Given the description of an element on the screen output the (x, y) to click on. 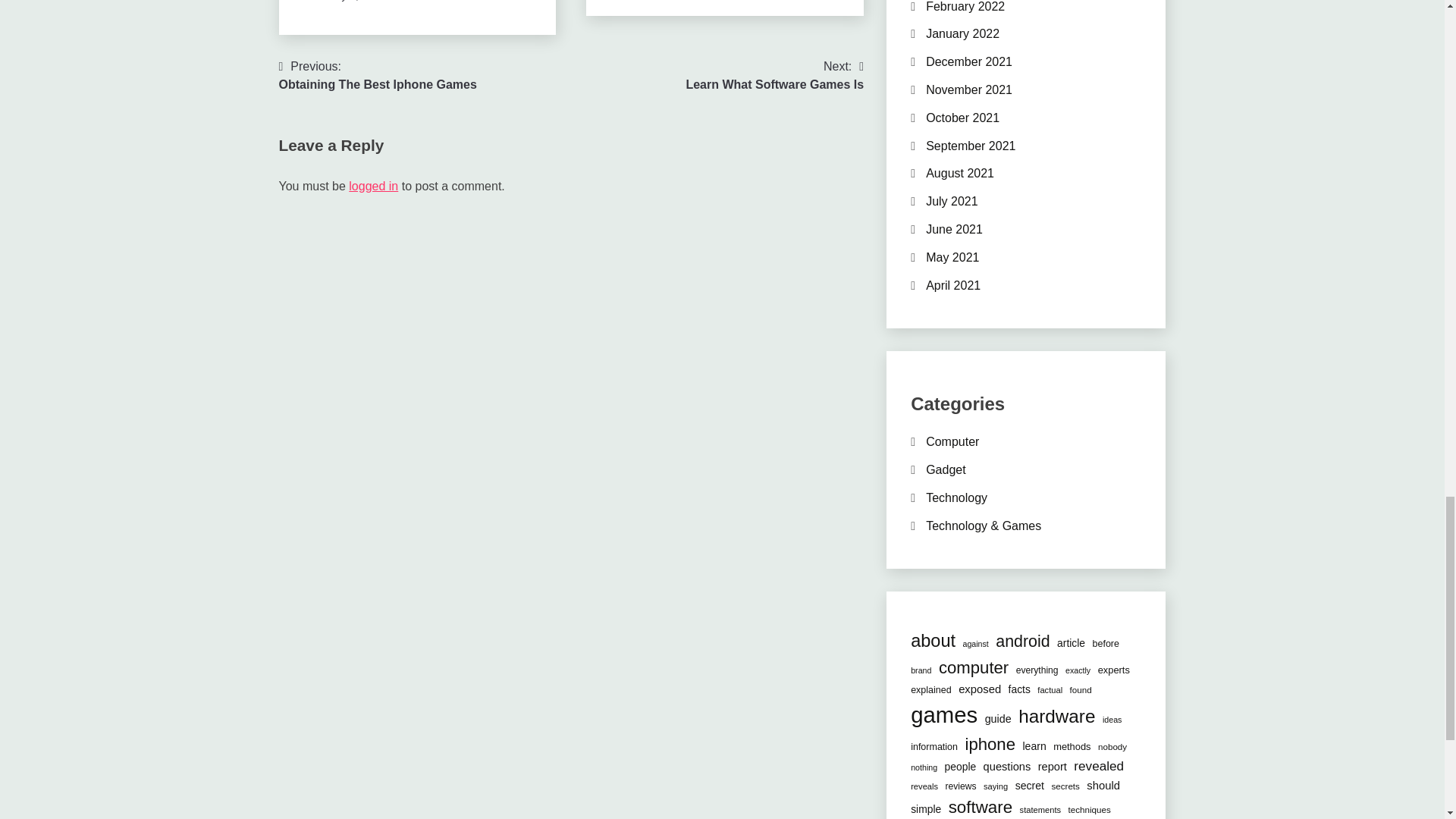
Yuno (774, 75)
logged in (415, 0)
January 9, 2024 (373, 185)
